Given the description of an element on the screen output the (x, y) to click on. 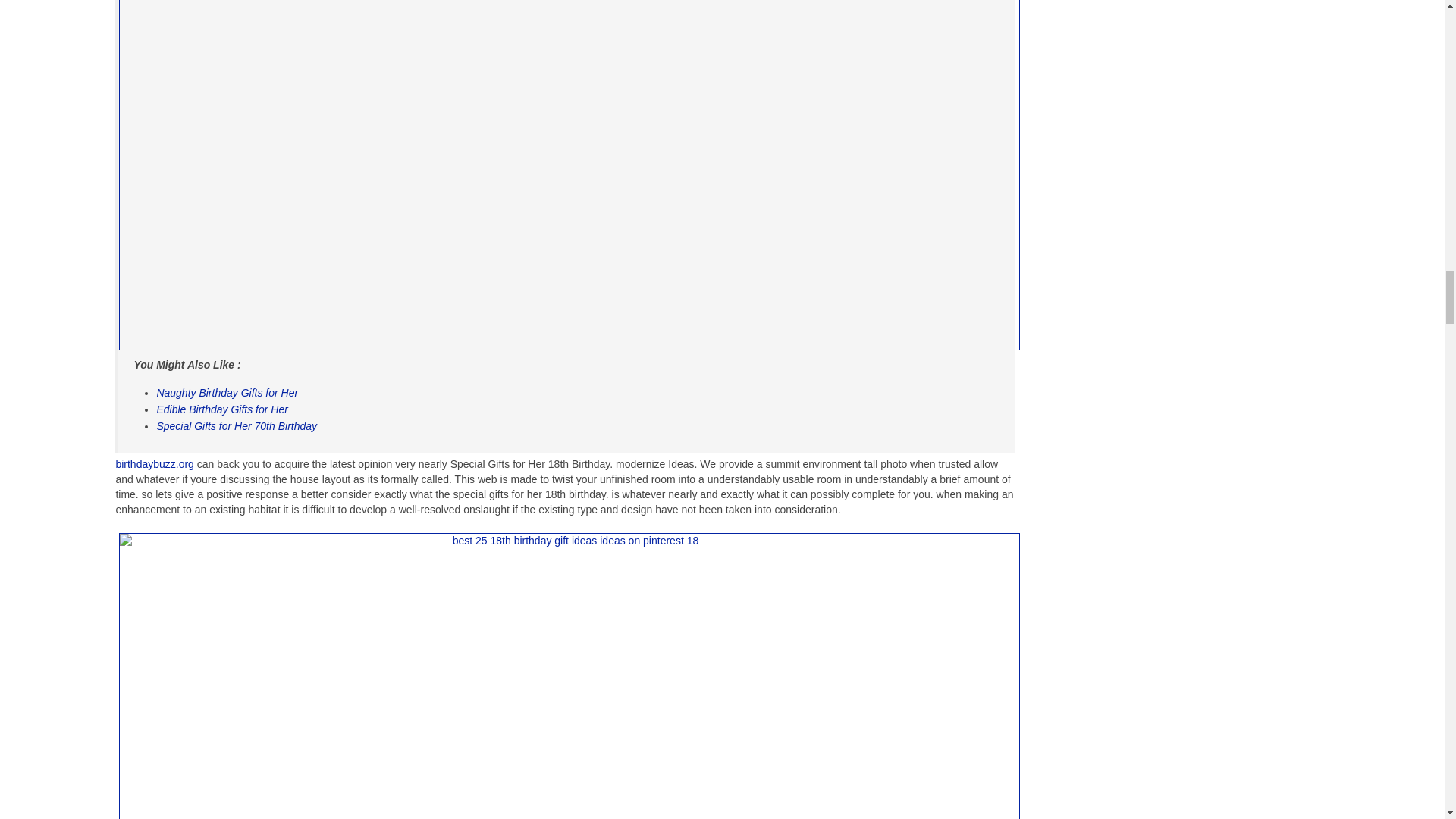
Naughty Birthday Gifts for Her (226, 392)
Edible Birthday Gifts for Her (221, 409)
Special Gifts for Her 70th Birthday (236, 426)
birthdaybuzz.org (154, 463)
